Given the description of an element on the screen output the (x, y) to click on. 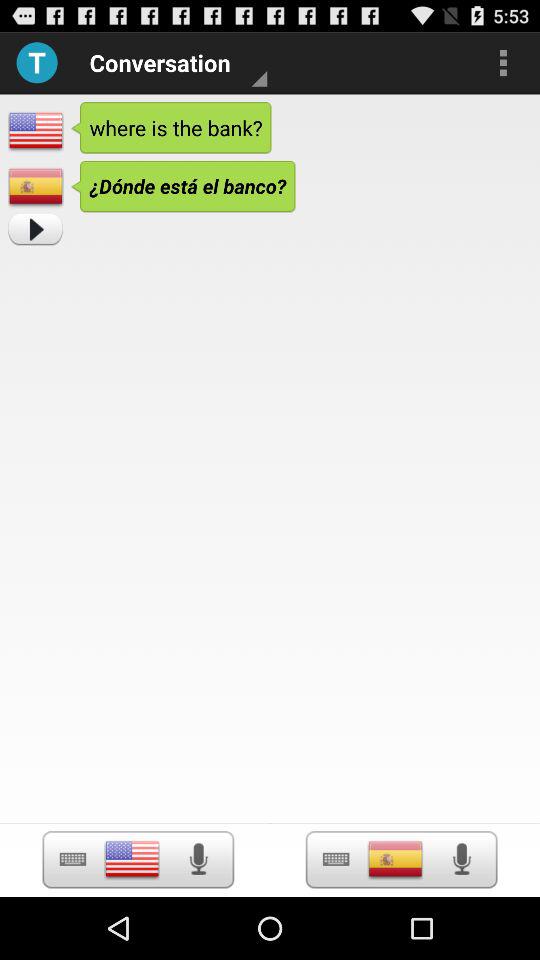
toggle keyboard (72, 859)
